Given the description of an element on the screen output the (x, y) to click on. 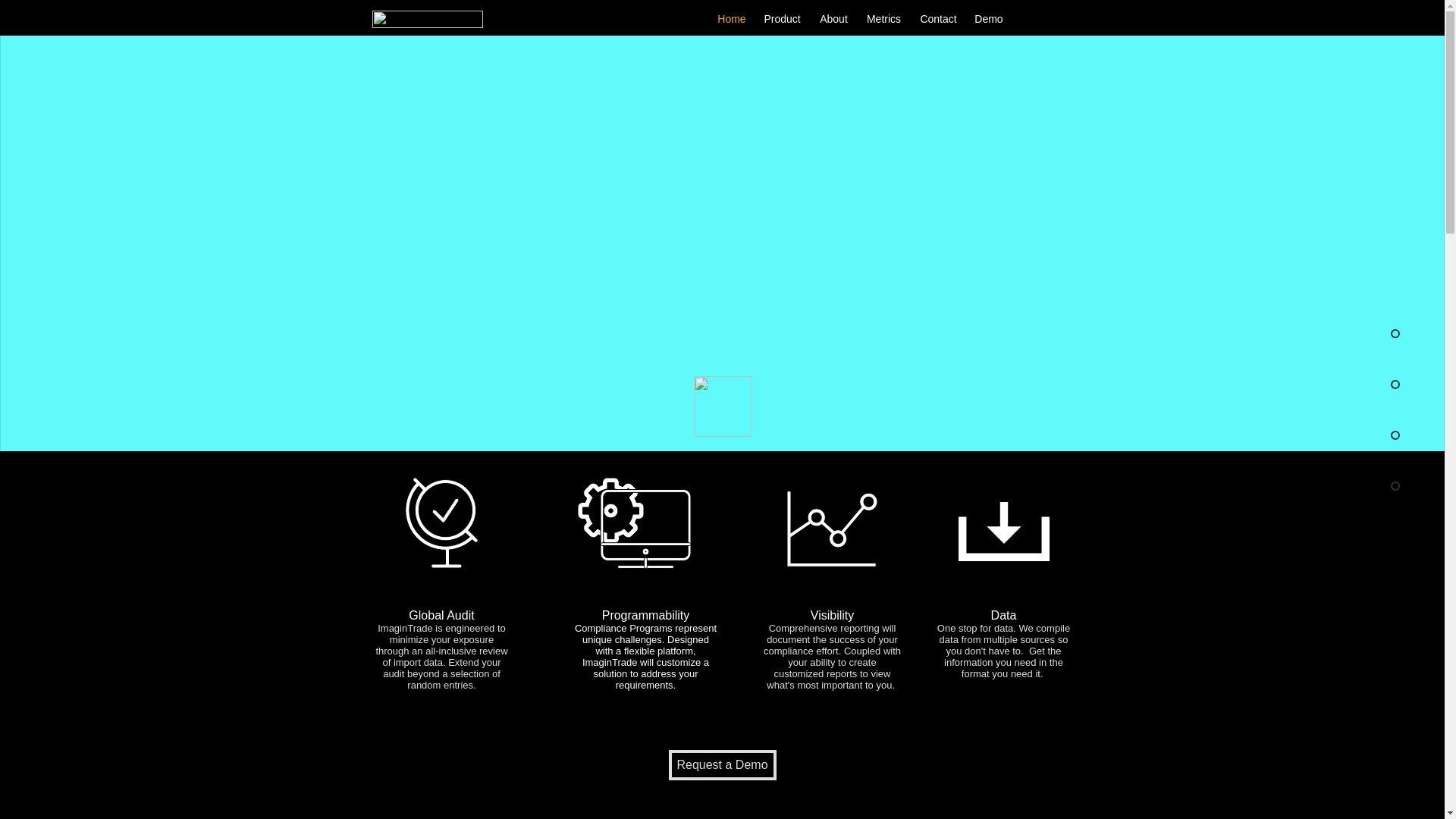
Metrics (883, 18)
Home (732, 18)
Request a Demo (722, 765)
logo-imagintrade-white.png (426, 18)
Product (781, 18)
Demo (988, 18)
About (833, 18)
Contact (938, 18)
